Given the description of an element on the screen output the (x, y) to click on. 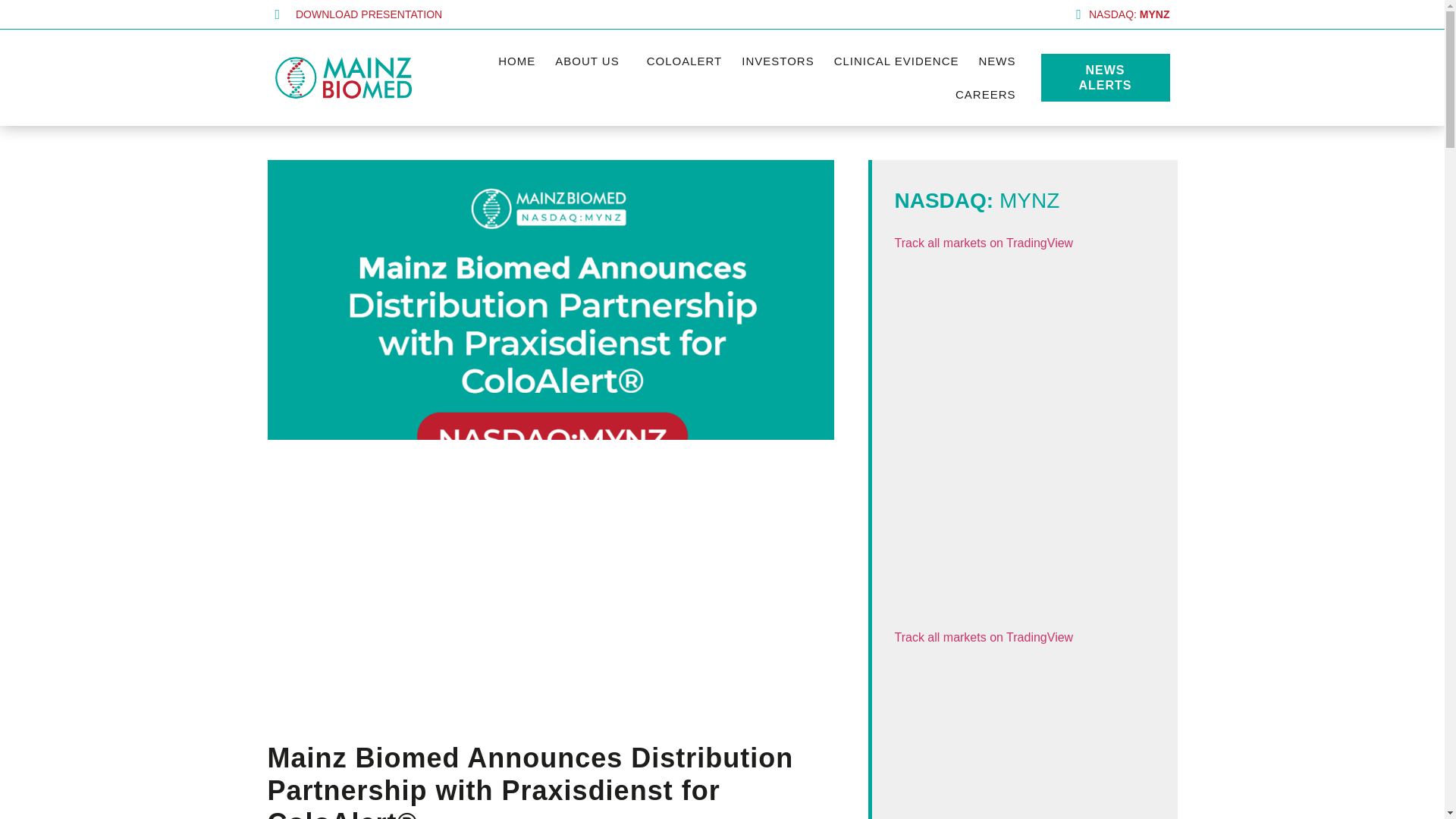
NASDAQ: MYNZ (949, 14)
HOME (515, 61)
DOWNLOAD PRESENTATION (494, 14)
NEWS (997, 61)
INVESTORS (778, 61)
NEWS ALERTS (1105, 77)
COLOALERT (684, 61)
CLINICAL EVIDENCE (896, 61)
CAREERS (985, 93)
ABOUT US (590, 61)
